Given the description of an element on the screen output the (x, y) to click on. 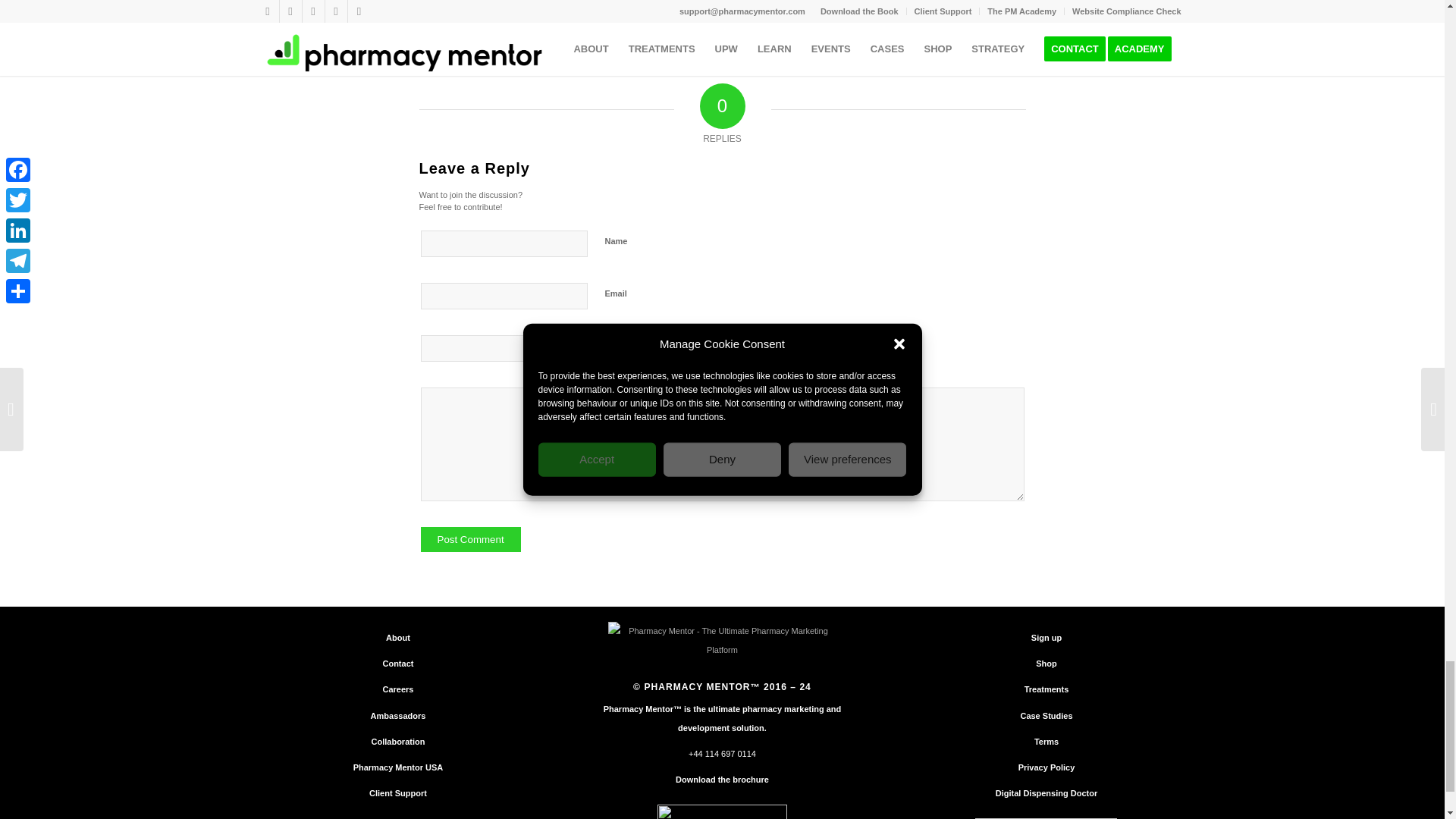
Post Comment (469, 539)
